Given the description of an element on the screen output the (x, y) to click on. 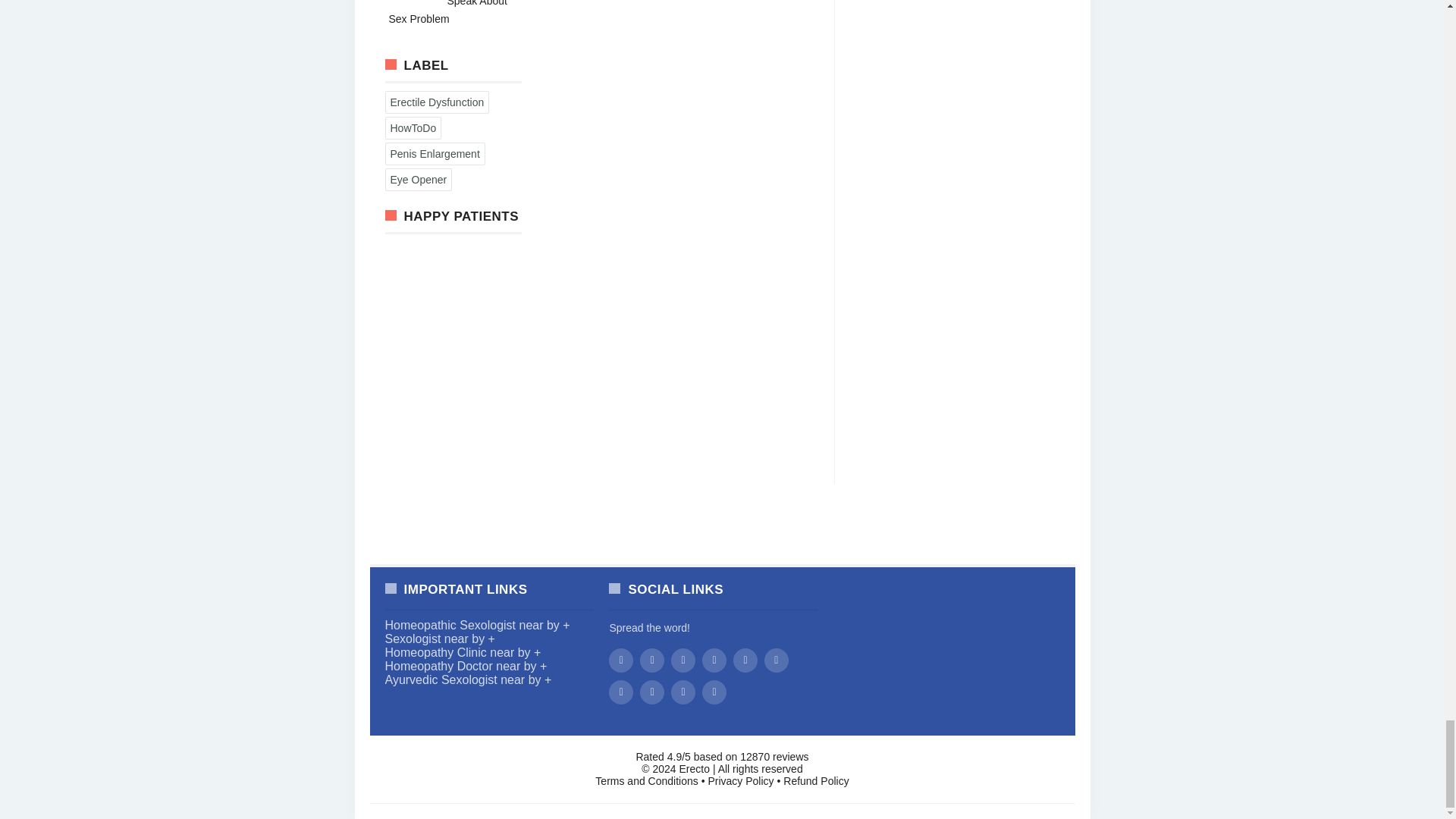
Why Men Hesitate To Speak About Sex Problem (447, 12)
Erectile Dysfunction (436, 102)
HowToDo (413, 127)
